Given the description of an element on the screen output the (x, y) to click on. 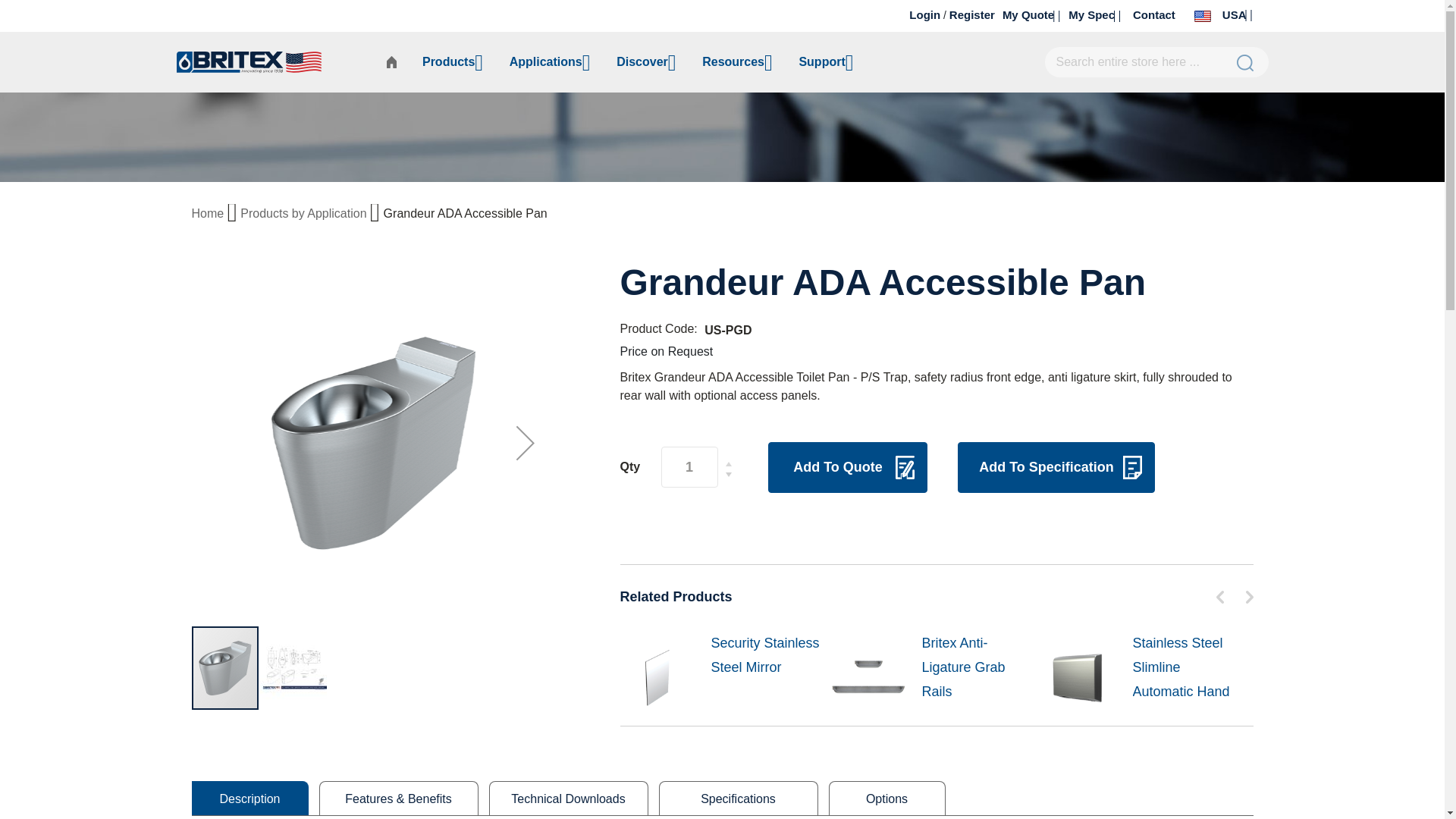
Stainless Steel Slimline Automatic Hand Dryer (1187, 679)
Products by Application (304, 213)
Login (924, 14)
Qty (689, 466)
Add to Quote (846, 467)
Security Stainless Steel Mirror (766, 654)
Home (208, 213)
Products (452, 61)
Contact (1153, 14)
Discover (646, 61)
Britex (275, 61)
My Spec (1094, 14)
Register (1032, 14)
1 (971, 14)
